Given the description of an element on the screen output the (x, y) to click on. 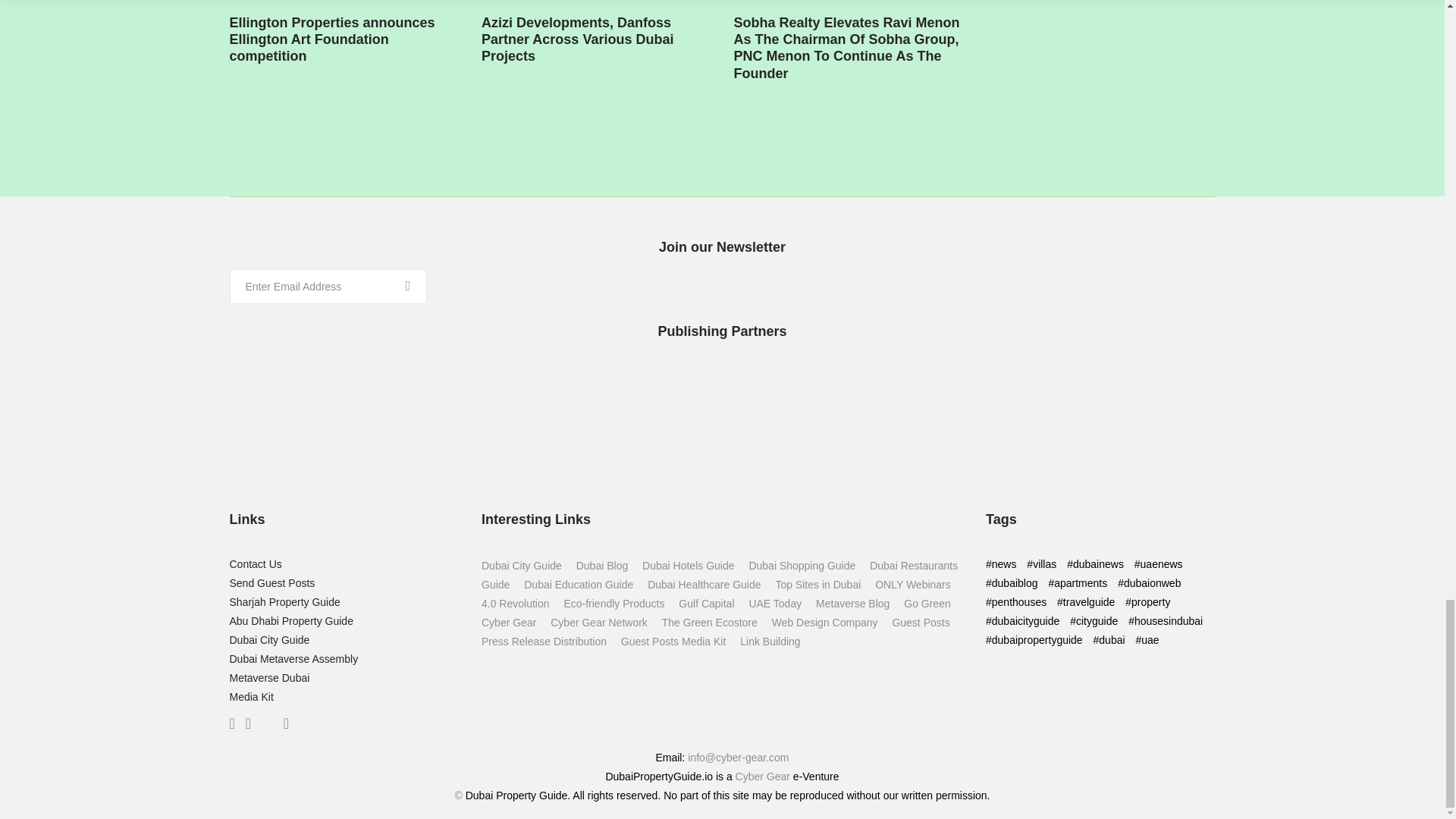
Contact Us (254, 563)
Dubai City Guide (268, 639)
Dubai Metaverse Assembly (293, 658)
Send Guest Posts (271, 582)
Abu Dhabi Property Guide (290, 621)
